Given the description of an element on the screen output the (x, y) to click on. 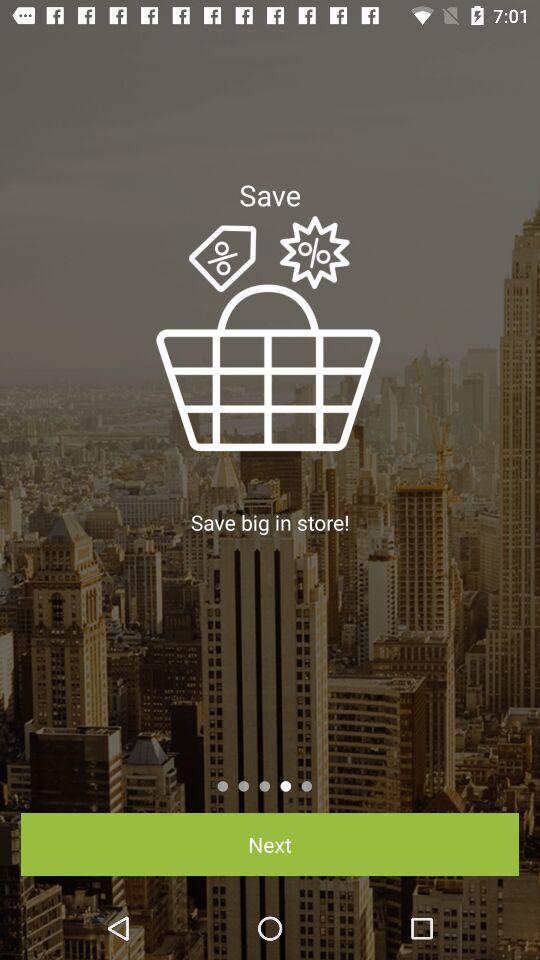
swipe until next item (270, 844)
